Given the description of an element on the screen output the (x, y) to click on. 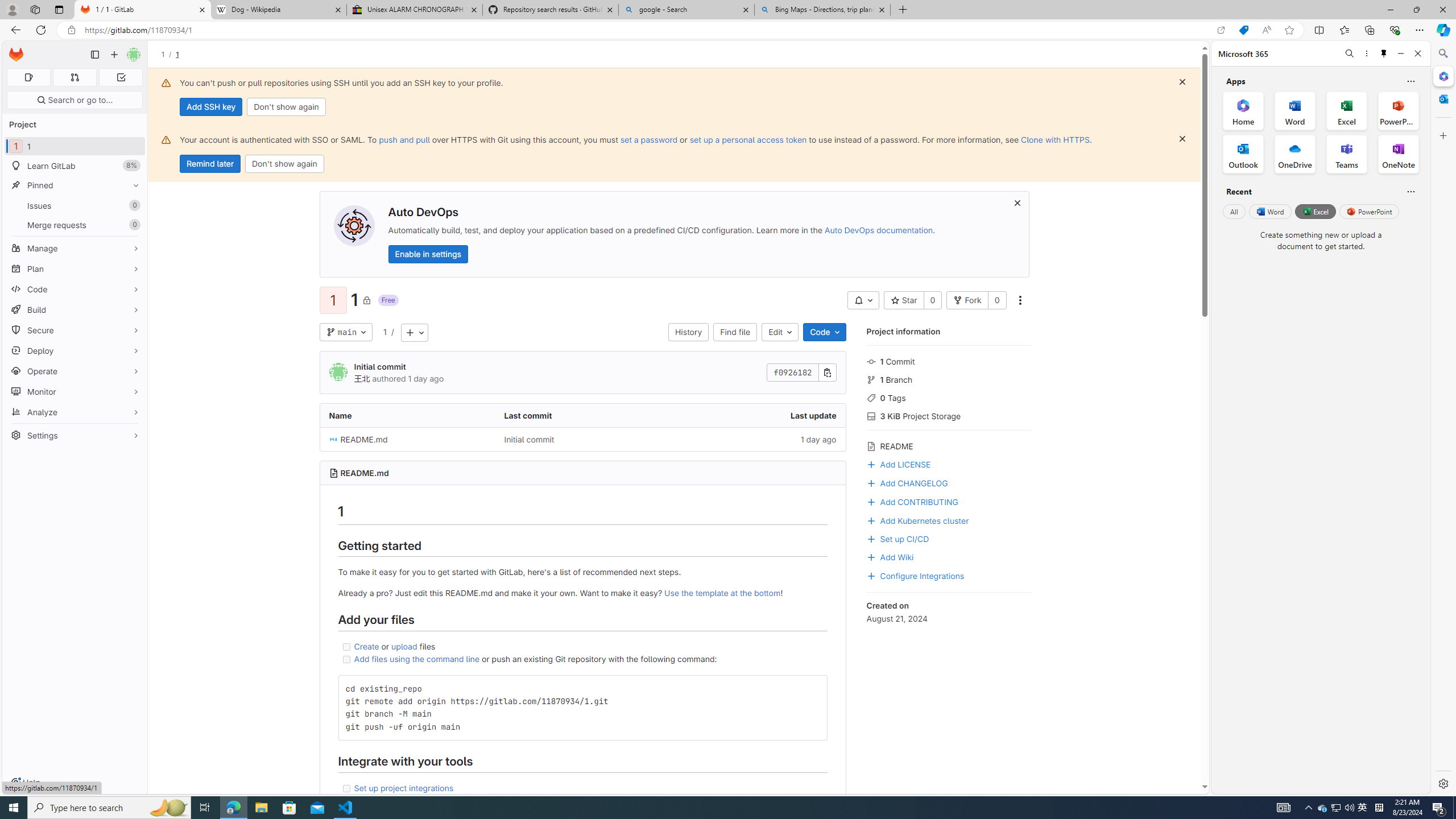
Set up CI/CD (897, 537)
OneNote Office App (1398, 154)
Operate (74, 370)
Analyze (74, 411)
Add LICENSE (948, 463)
Configure Integrations (948, 574)
Class: s16 gl-blue-500! gl-mr-3 (871, 575)
Create new... (113, 54)
11 (74, 145)
Class: s16 position-relative file-icon (333, 439)
Set up project integrations (403, 787)
